Given the description of an element on the screen output the (x, y) to click on. 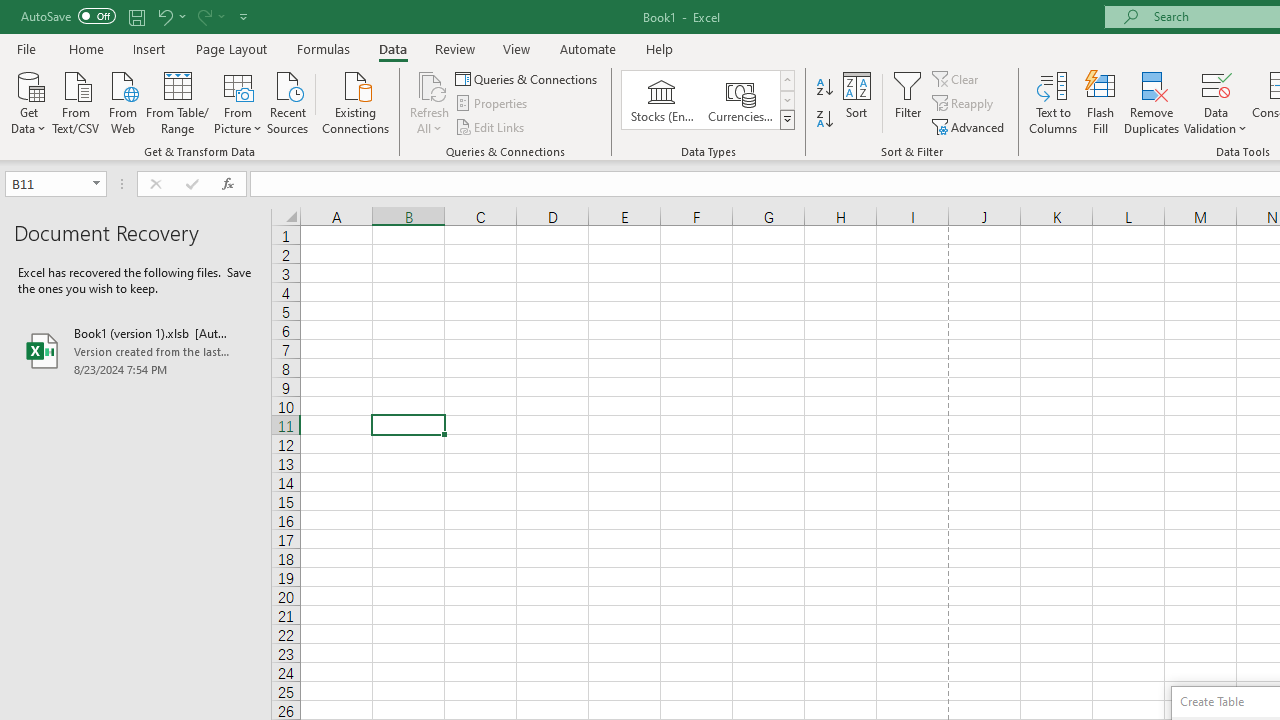
Filter (908, 102)
AutomationID: ConvertToLinkedEntity (708, 99)
Remove Duplicates (1151, 102)
Row up (786, 79)
Sort A to Z (824, 87)
